Given the description of an element on the screen output the (x, y) to click on. 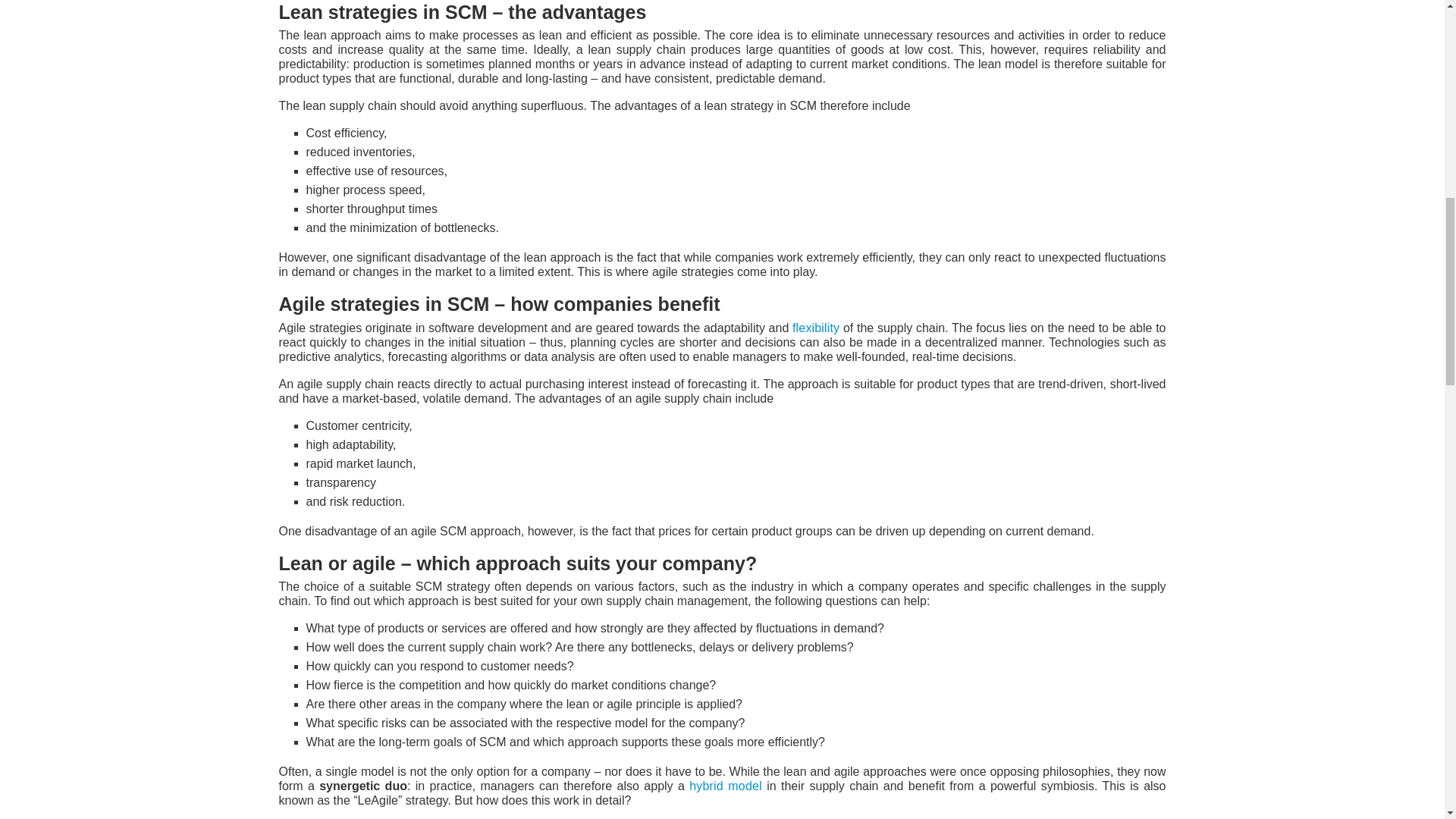
hybrid model (724, 785)
flexibility (816, 327)
